Given the description of an element on the screen output the (x, y) to click on. 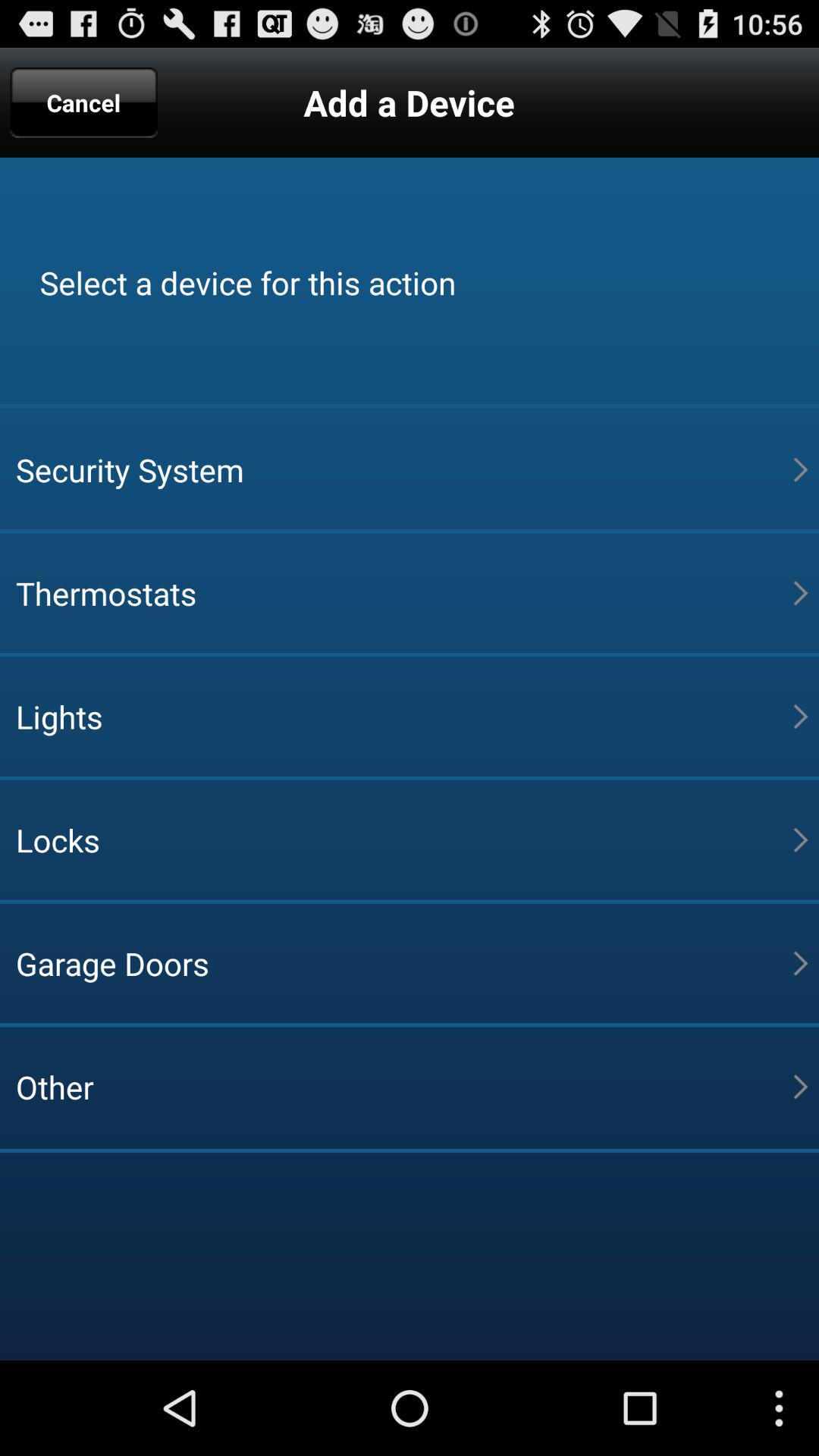
flip until the other (403, 1086)
